Given the description of an element on the screen output the (x, y) to click on. 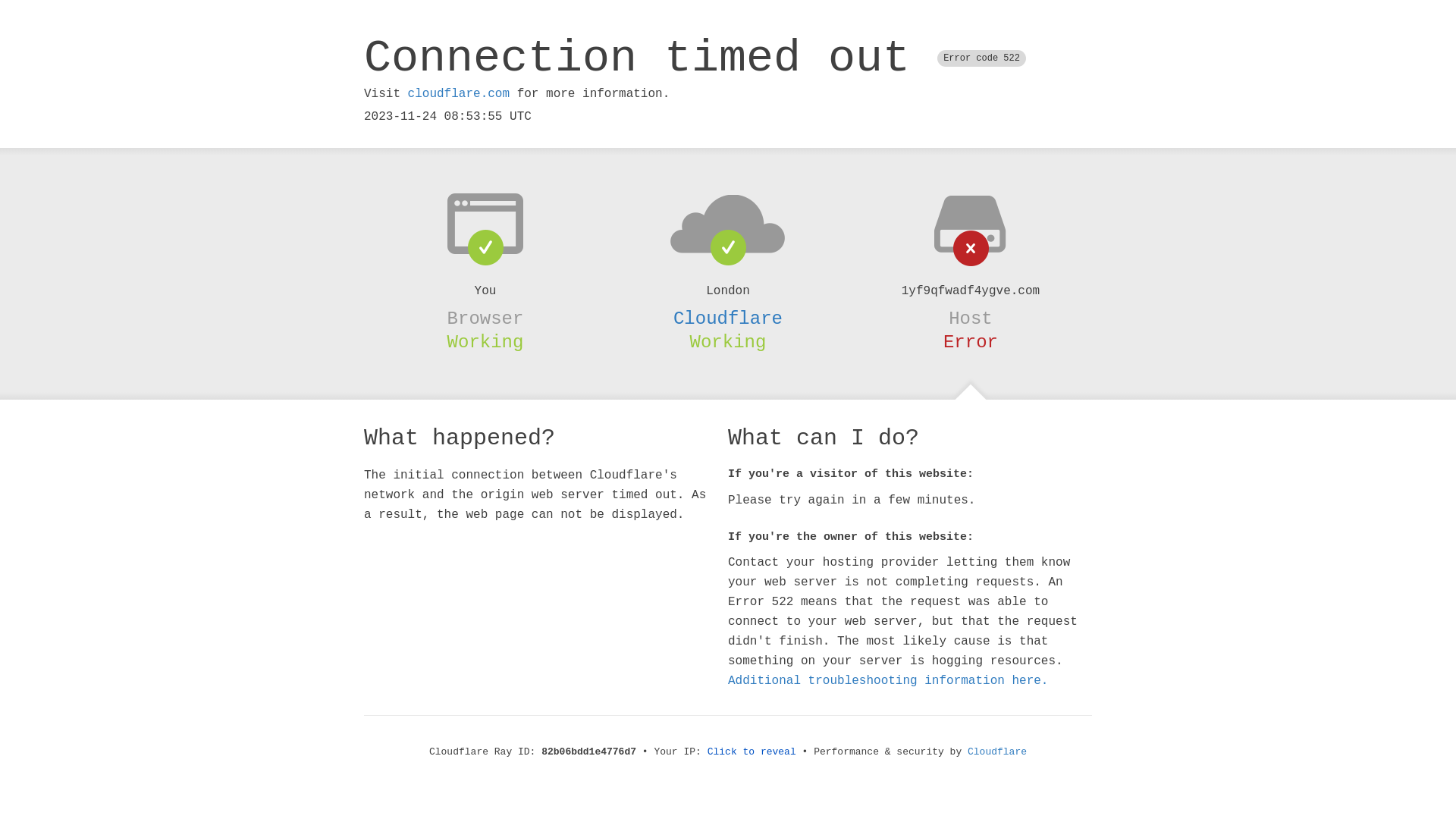
Cloudflare Element type: text (996, 751)
Cloudflare Element type: text (727, 318)
Click to reveal Element type: text (751, 751)
Additional troubleshooting information here. Element type: text (888, 680)
cloudflare.com Element type: text (458, 93)
